Given the description of an element on the screen output the (x, y) to click on. 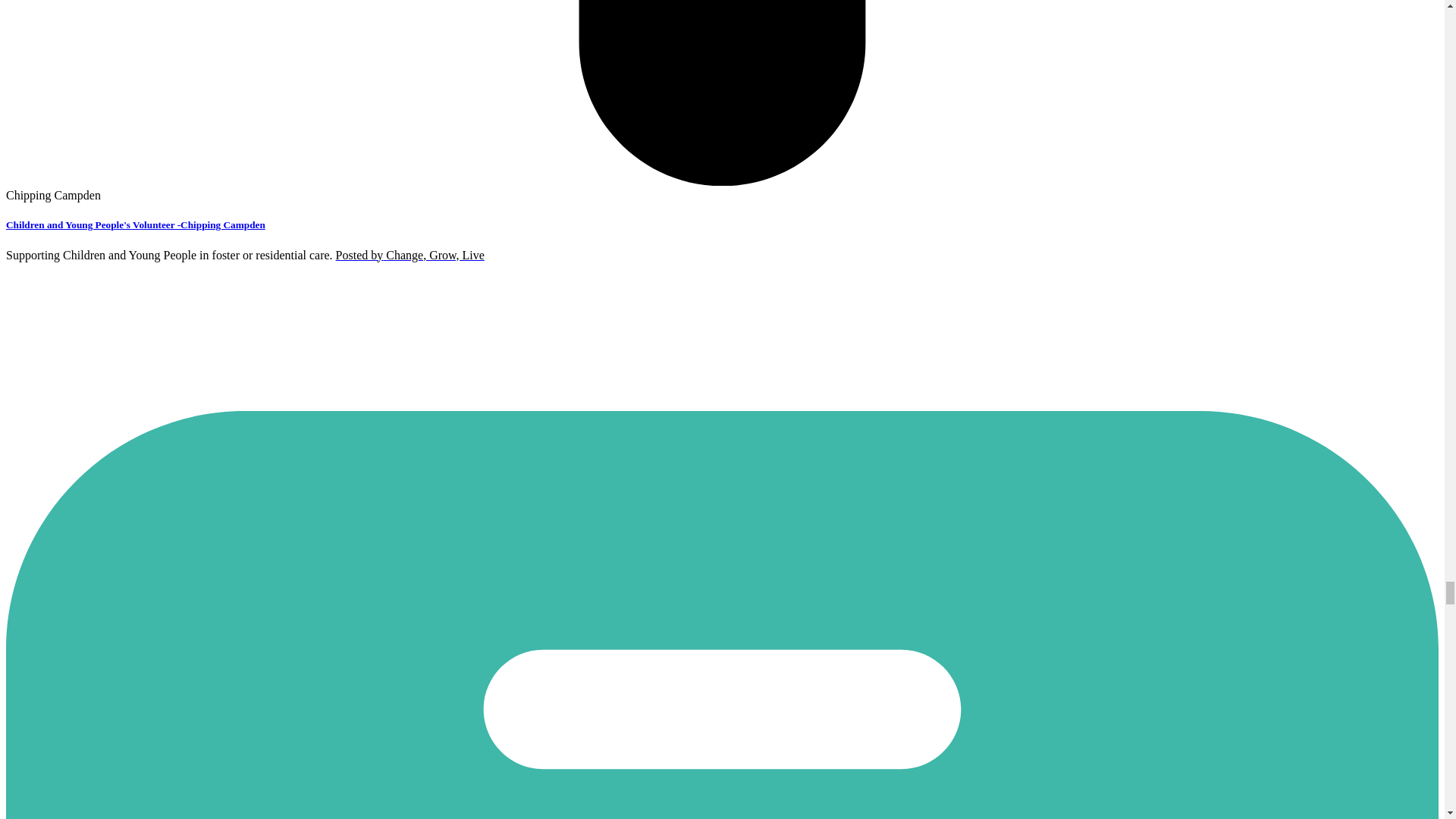
Posted by Change, Grow, Live (410, 254)
